Given the description of an element on the screen output the (x, y) to click on. 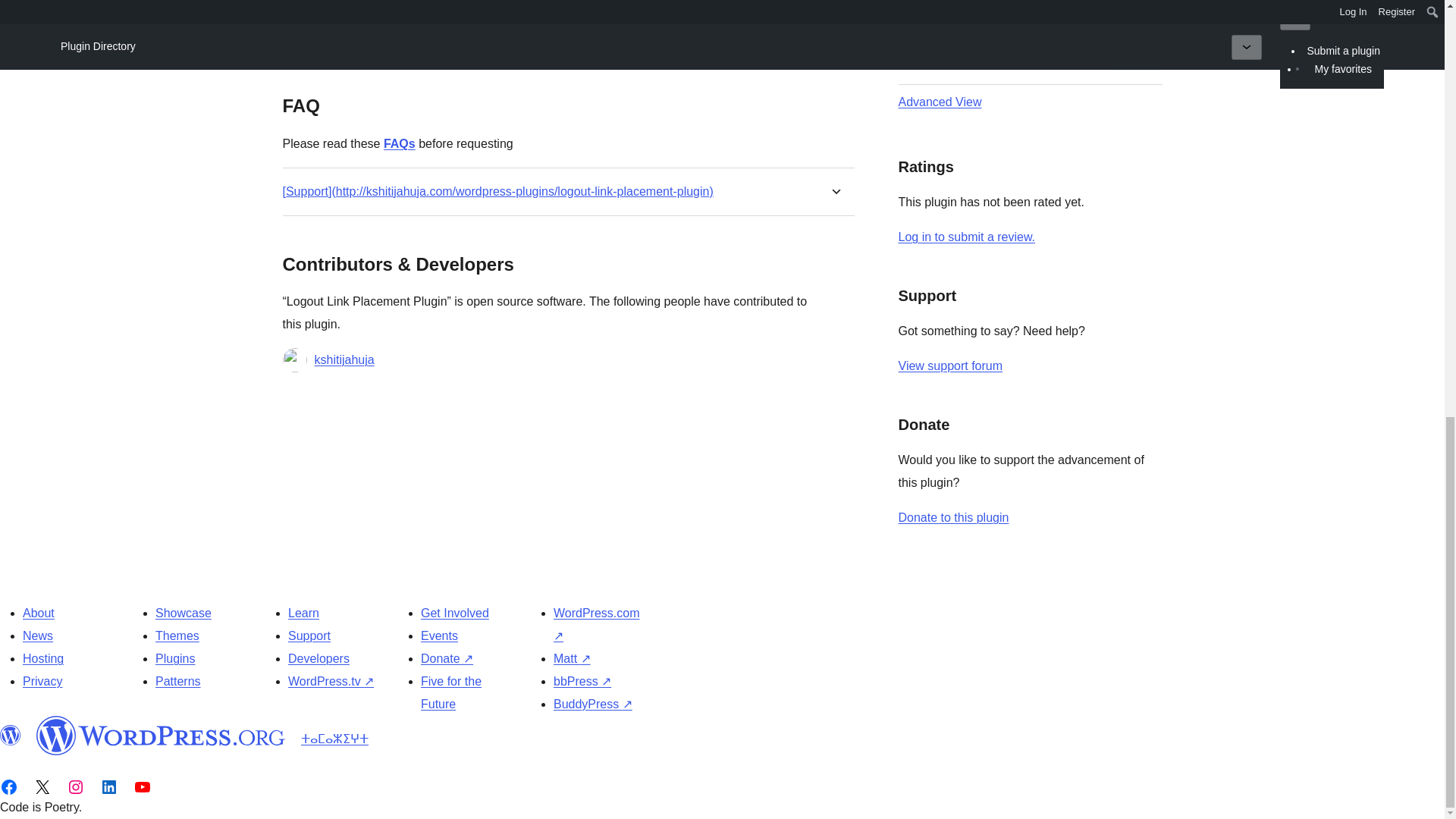
Log in to WordPress.org (966, 236)
WordPress.org (10, 735)
FAQs (399, 143)
kshitijahuja (344, 359)
WordPress.org (160, 735)
